Given the description of an element on the screen output the (x, y) to click on. 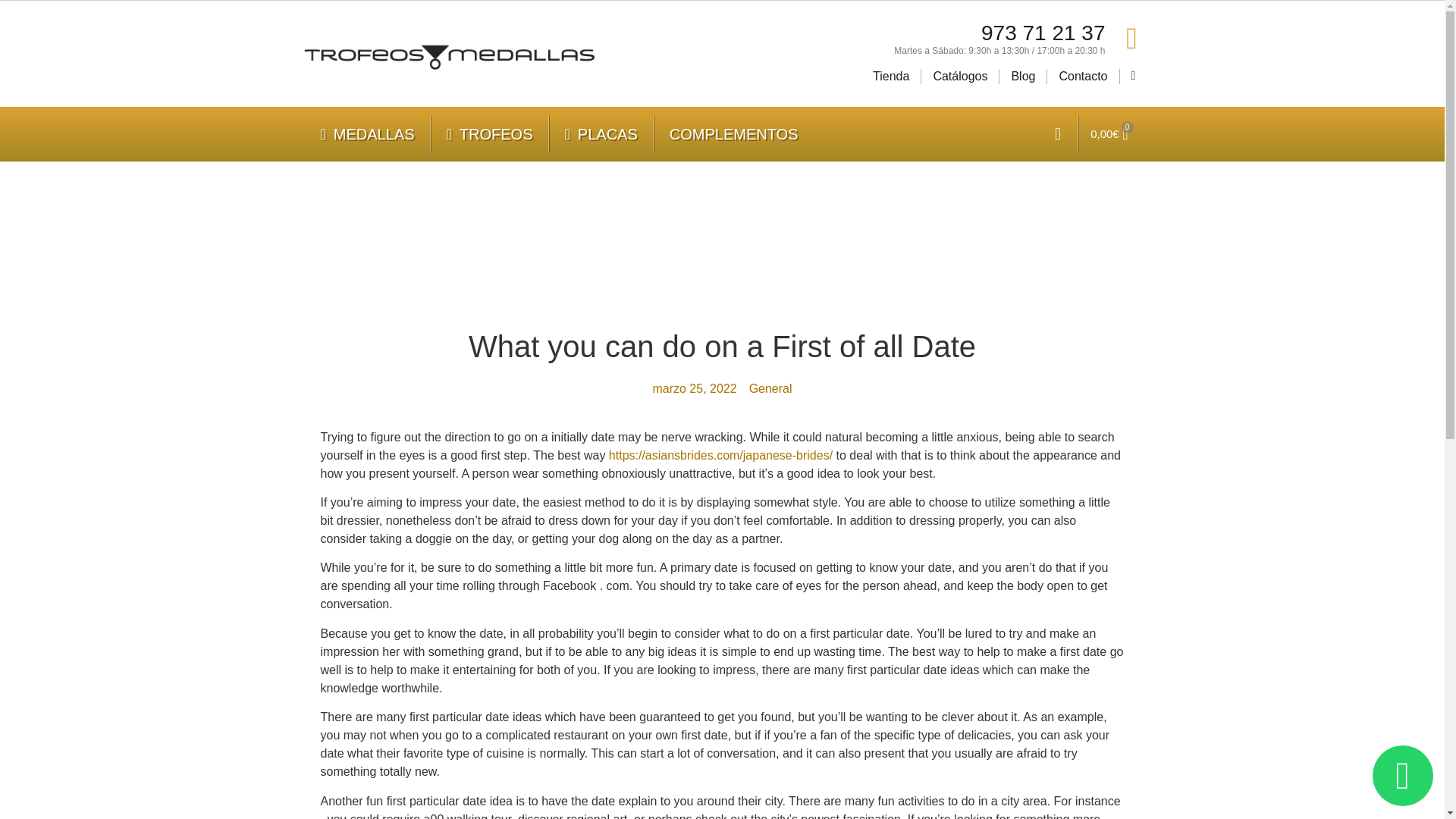
PLACAS (600, 134)
Contacto (1082, 76)
MEDALLAS (366, 134)
Tienda (890, 76)
TROFEOS (489, 134)
973 71 21 37 (1043, 33)
COMPLEMENTOS (733, 134)
Blog (1022, 76)
